Given the description of an element on the screen output the (x, y) to click on. 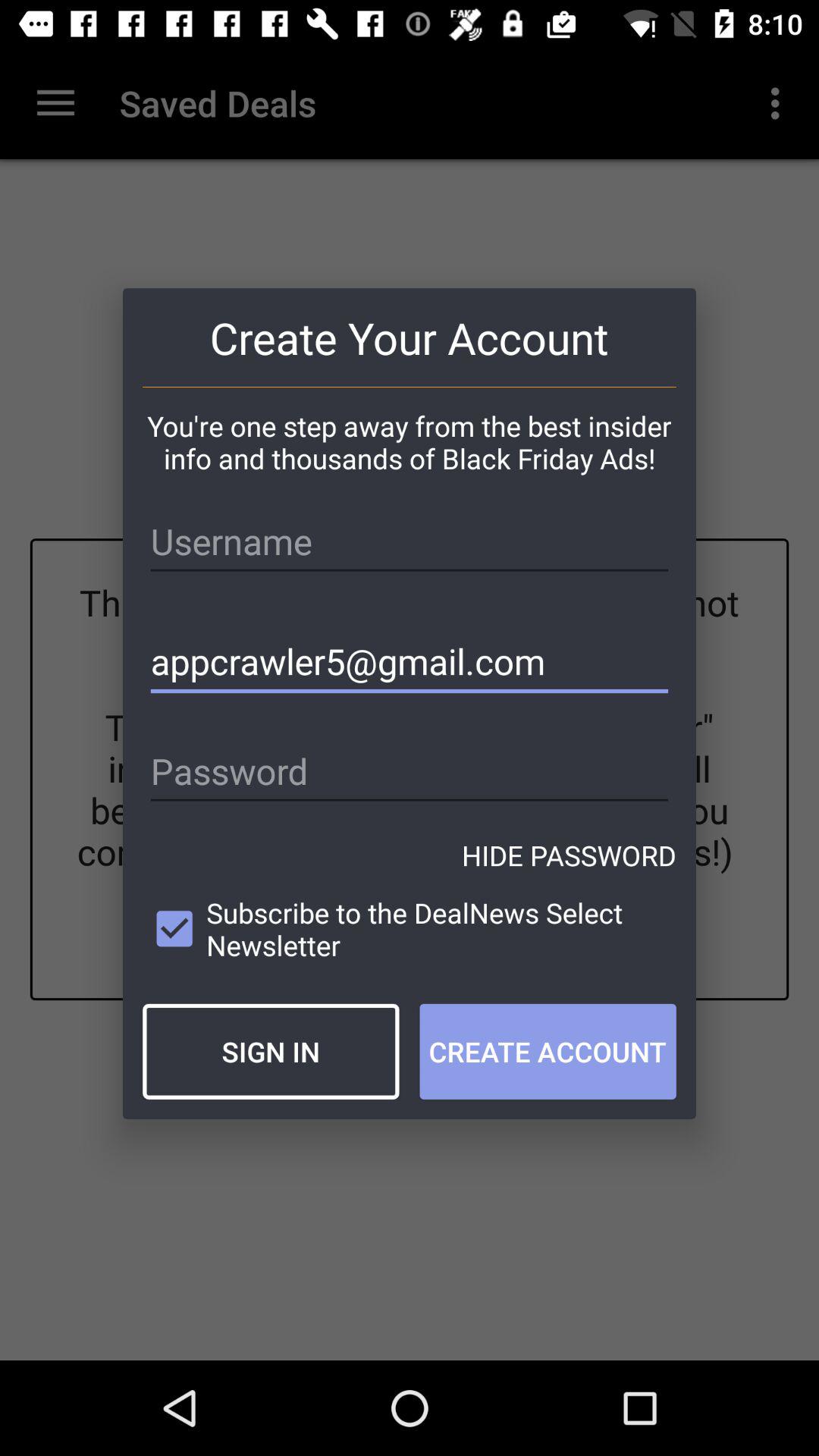
jump until sign in icon (270, 1051)
